Given the description of an element on the screen output the (x, y) to click on. 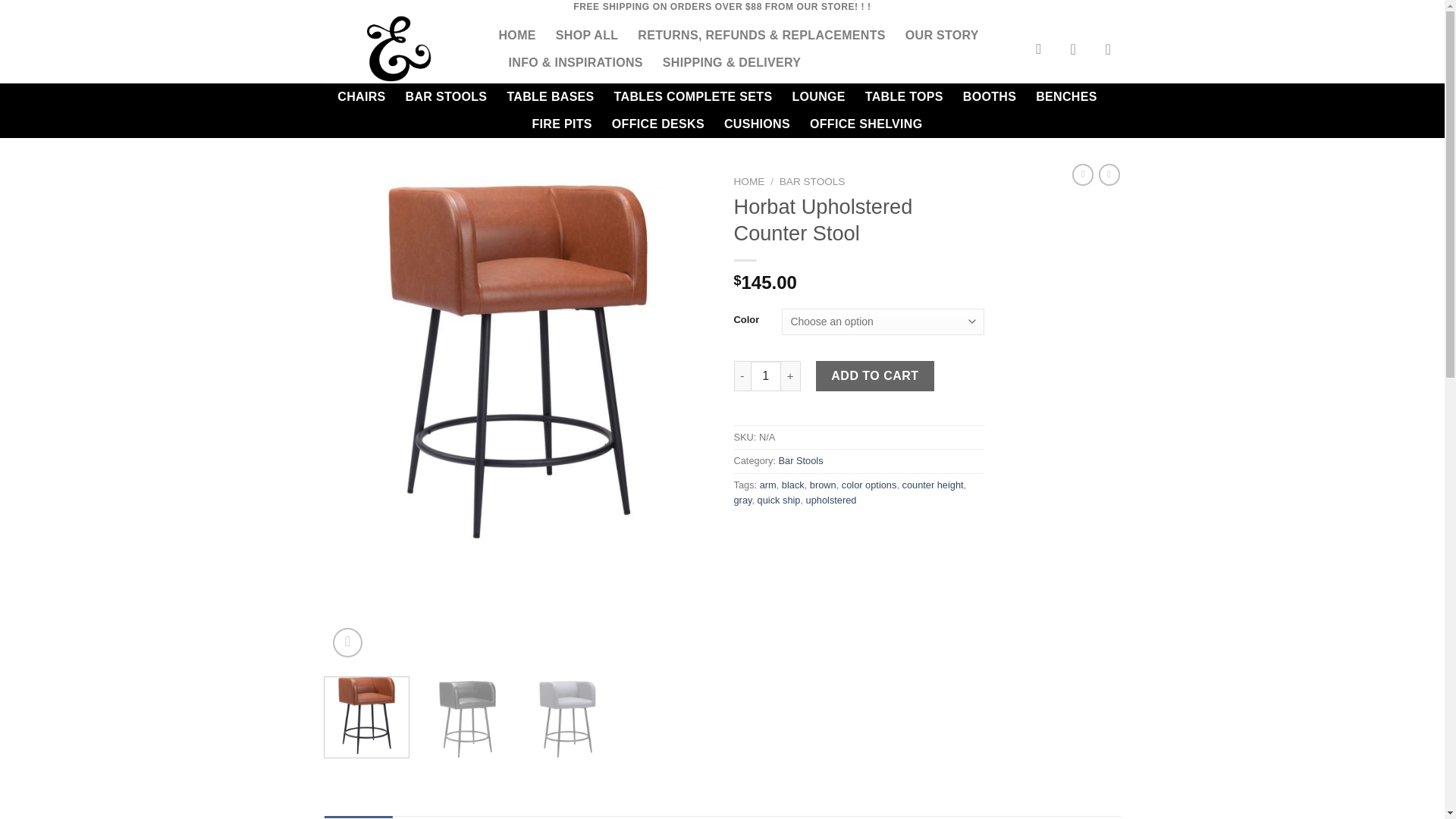
HOME (517, 35)
OFFICE SHELVING (866, 124)
SHOP ALL (587, 35)
TABLES COMPLETE SETS (693, 96)
LOUNGE (818, 96)
BAR STOOLS (811, 181)
CHAIRS (361, 96)
OUR STORY (941, 35)
TABLE BASES (550, 96)
Qty (765, 376)
Zoom (347, 642)
HOME (749, 181)
CUSHIONS (756, 124)
BENCHES (1065, 96)
